Given the description of an element on the screen output the (x, y) to click on. 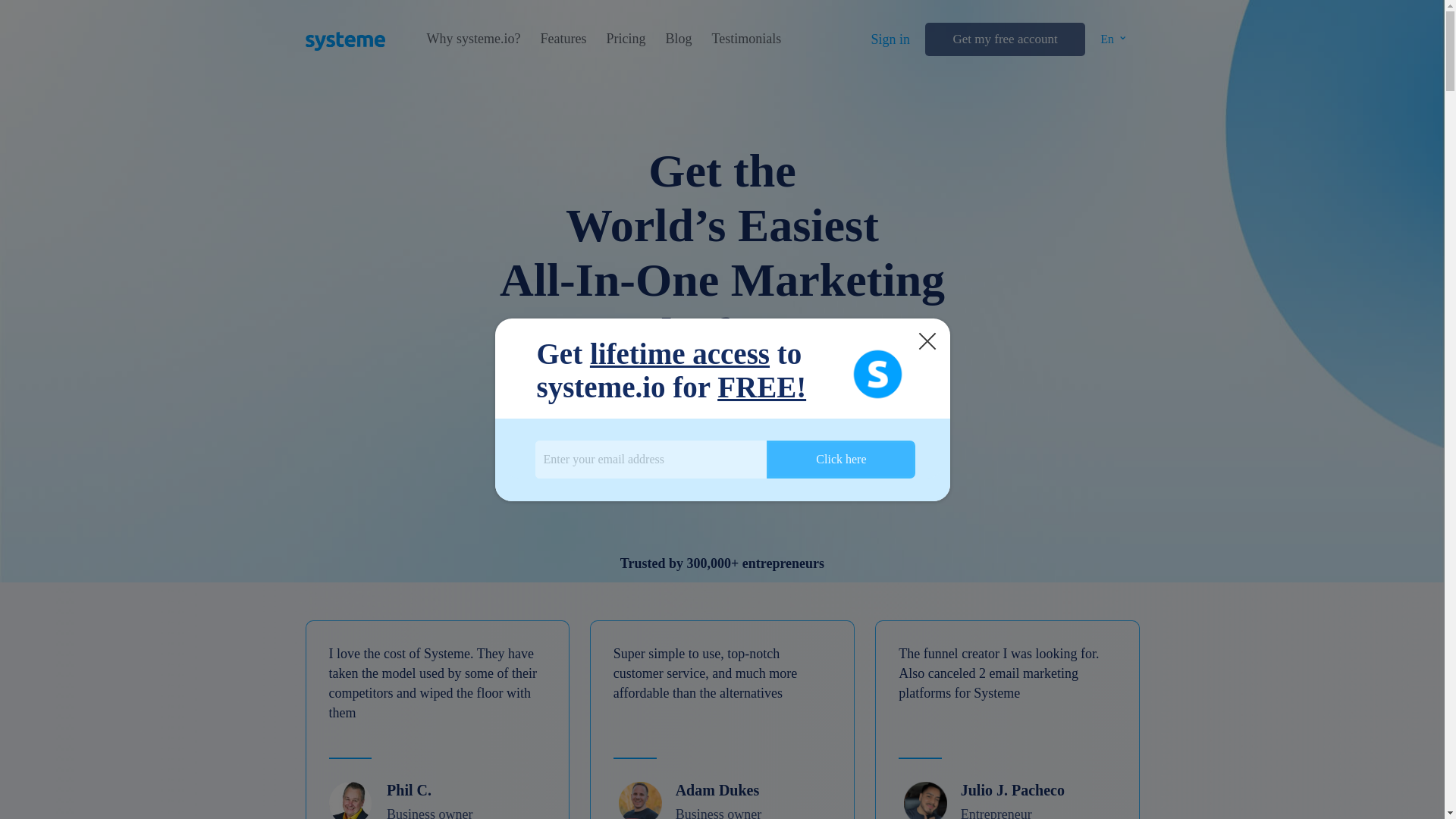
Blog (678, 38)
Testimonials (745, 38)
Why systeme.io? (472, 38)
Pricing (625, 38)
Features (563, 38)
Sign in (890, 39)
Get my free account (1004, 39)
